Given the description of an element on the screen output the (x, y) to click on. 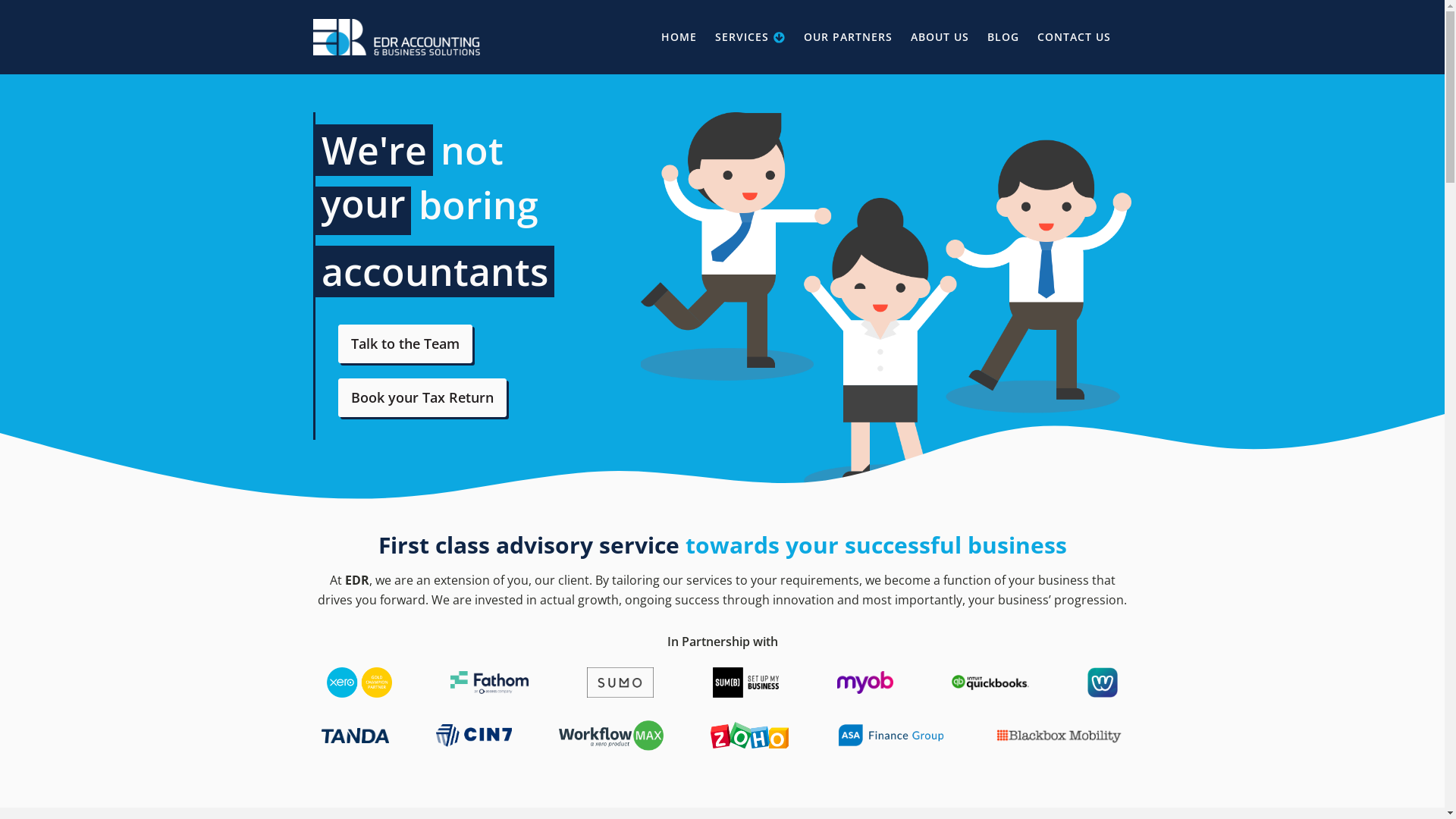
BLOG Element type: text (1003, 36)
HOME Element type: text (679, 36)
SERVICES Element type: text (750, 37)
CONTACT US Element type: text (1074, 36)
Book your Tax Return Element type: text (422, 397)
ABOUT US Element type: text (938, 36)
OUR PARTNERS Element type: text (847, 36)
Talk to the Team Element type: text (405, 343)
